Given the description of an element on the screen output the (x, y) to click on. 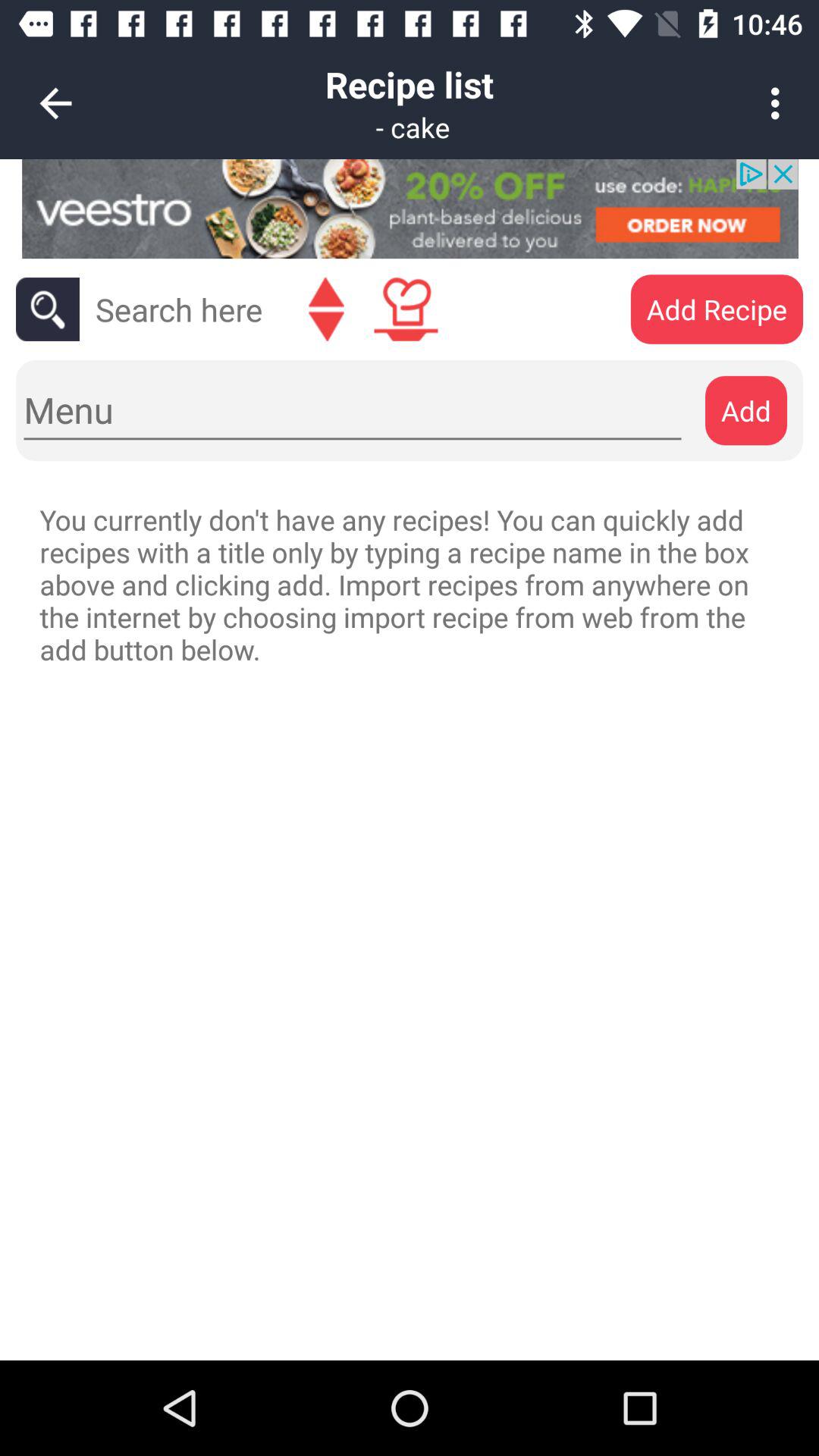
save recipe (405, 309)
